Given the description of an element on the screen output the (x, y) to click on. 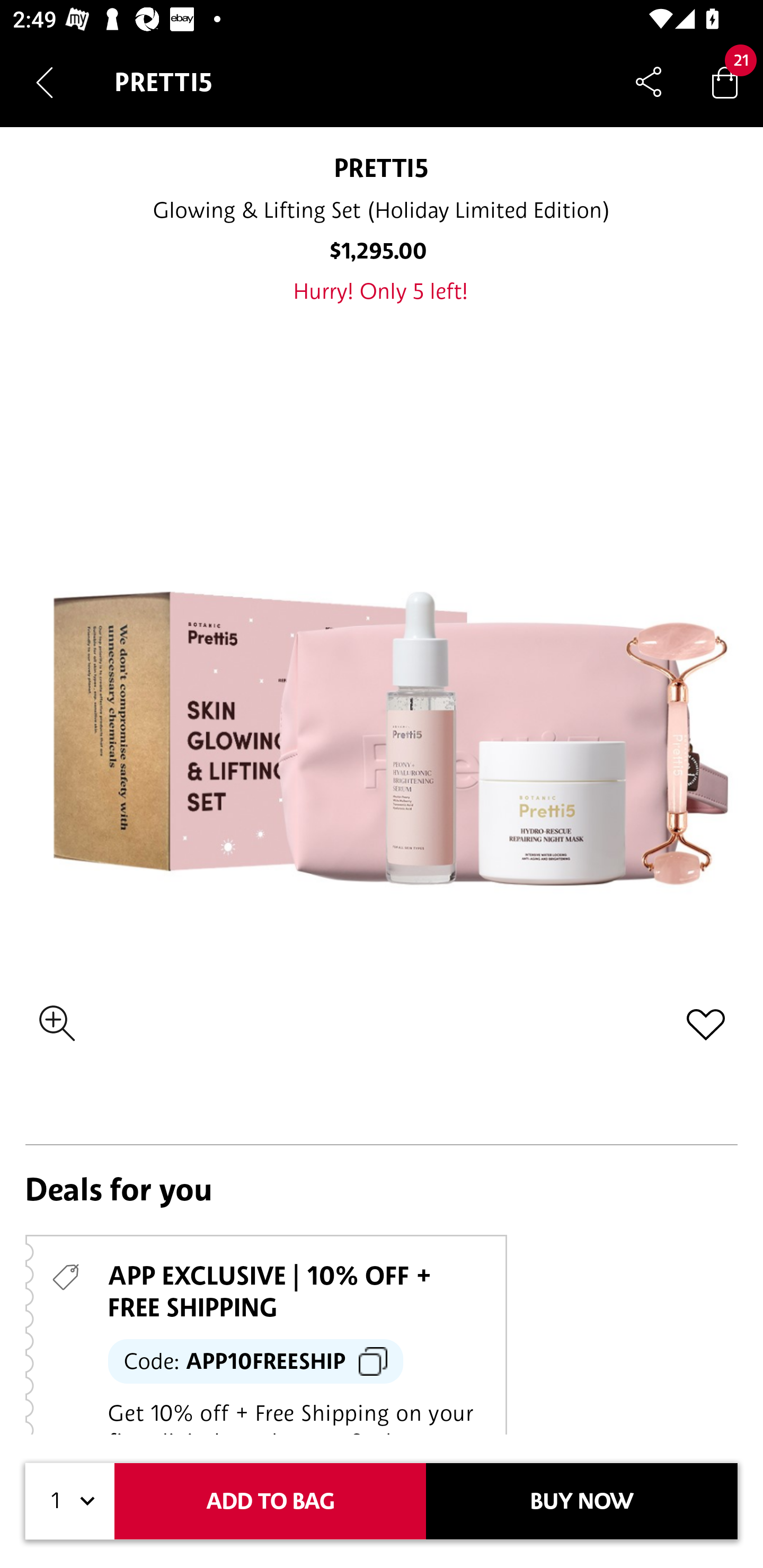
Navigate up (44, 82)
Share (648, 81)
Bag (724, 81)
PRETTI5 (381, 167)
1 (69, 1500)
ADD TO BAG (269, 1500)
BUY NOW (581, 1500)
